Given the description of an element on the screen output the (x, y) to click on. 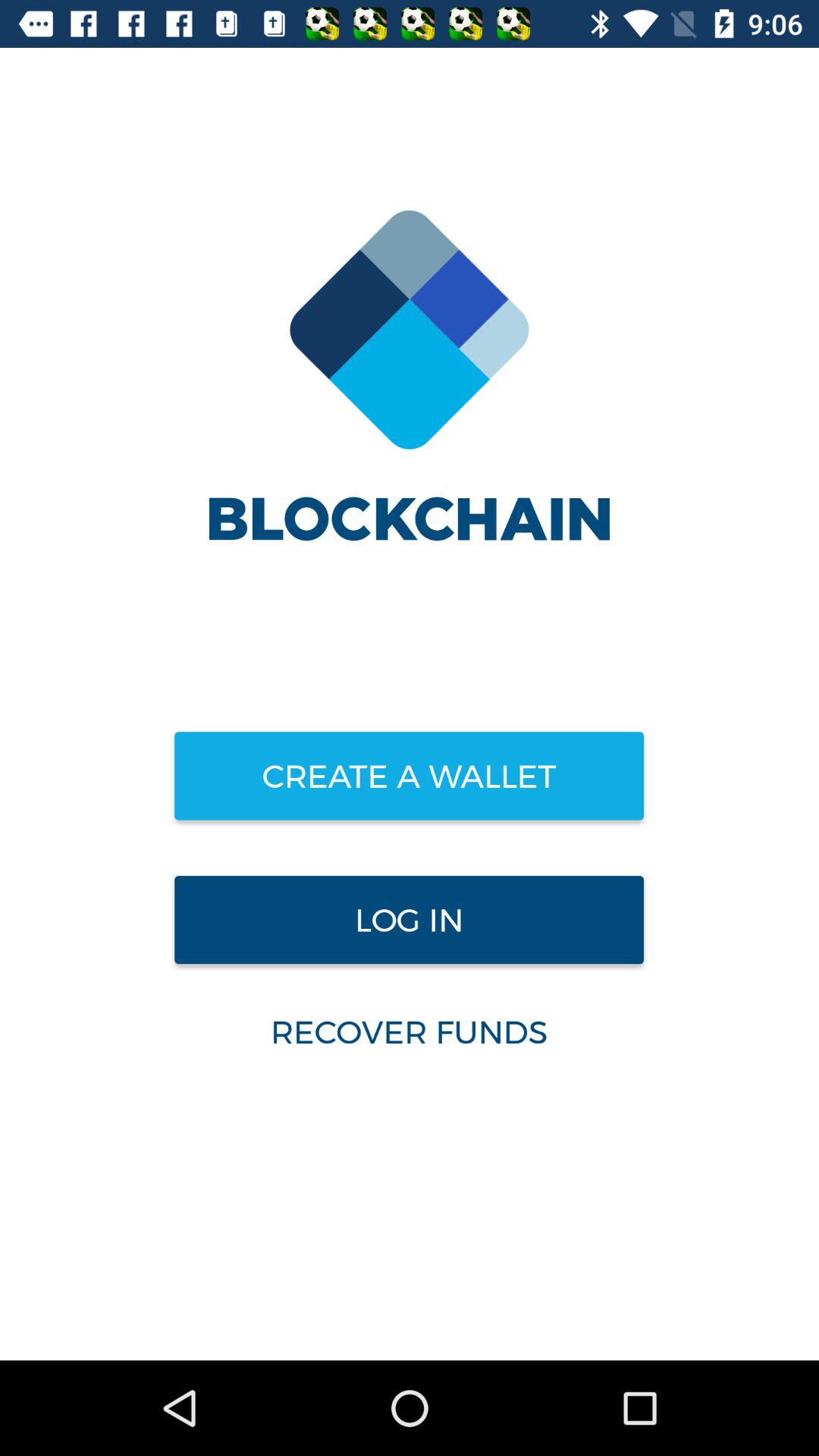
jump until the recover funds (408, 1031)
